Given the description of an element on the screen output the (x, y) to click on. 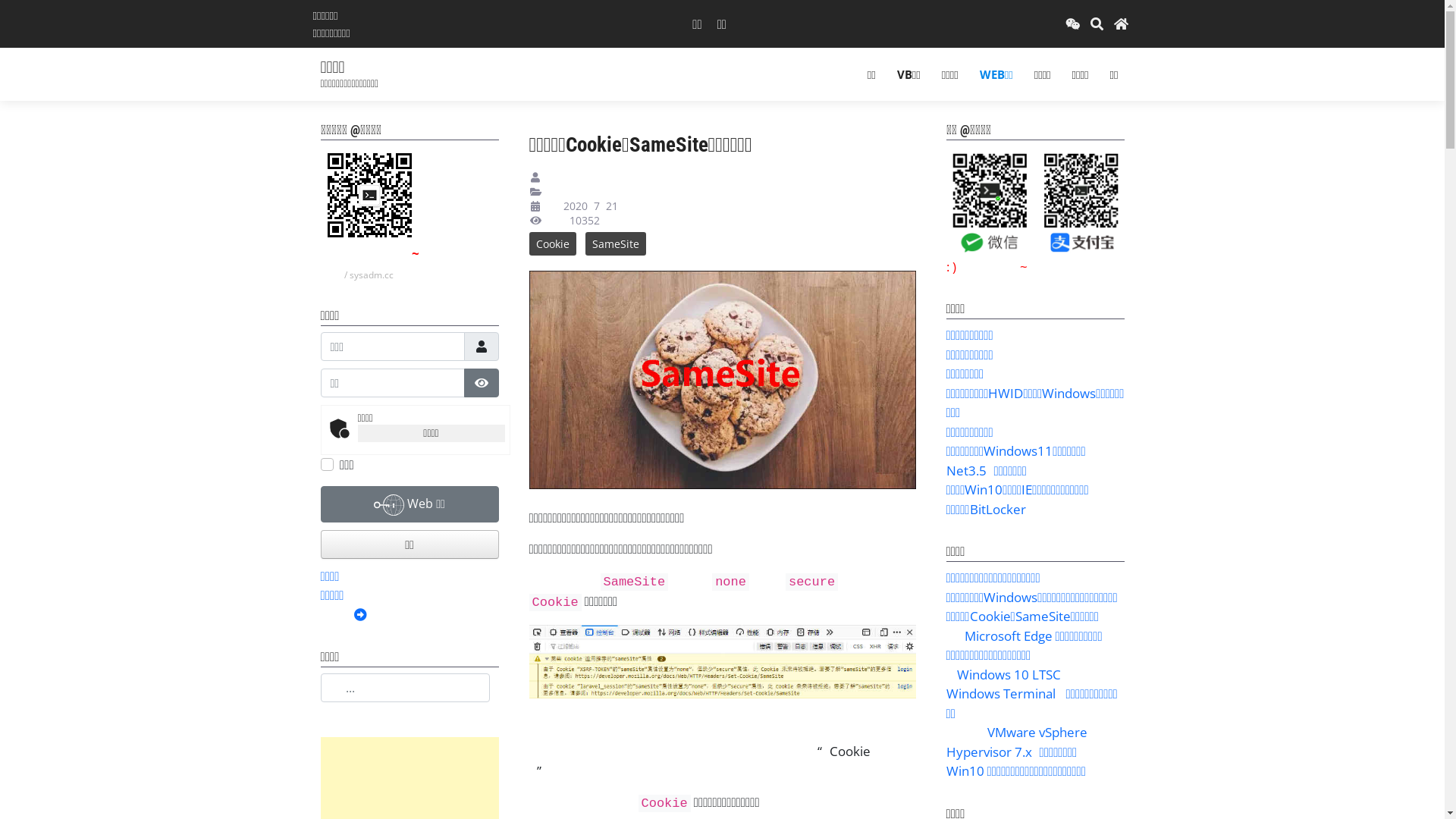
Cookie Element type: text (552, 243)
SameSite Element type: text (615, 243)
